Given the description of an element on the screen output the (x, y) to click on. 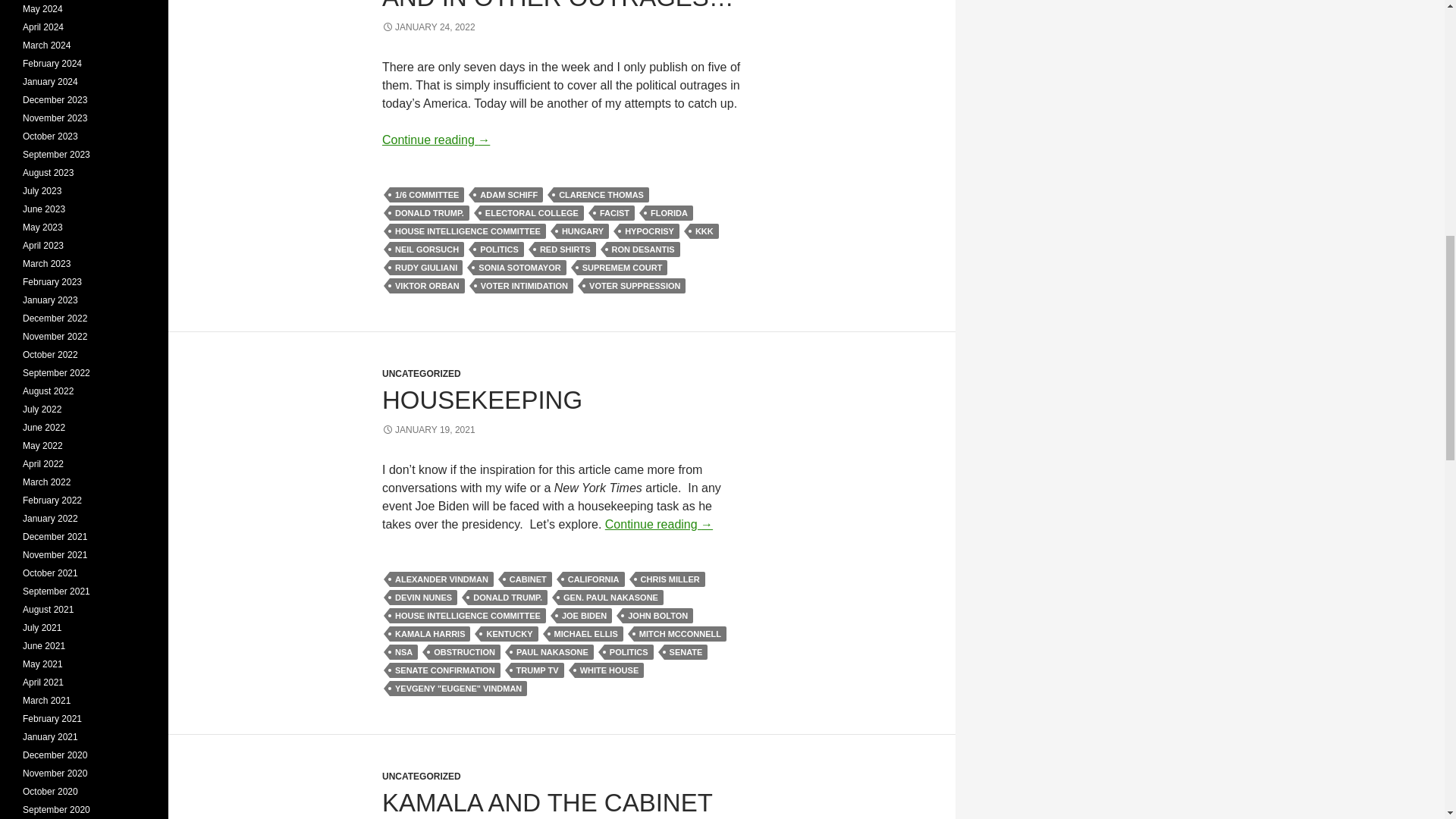
JANUARY 24, 2022 (428, 27)
